Given the description of an element on the screen output the (x, y) to click on. 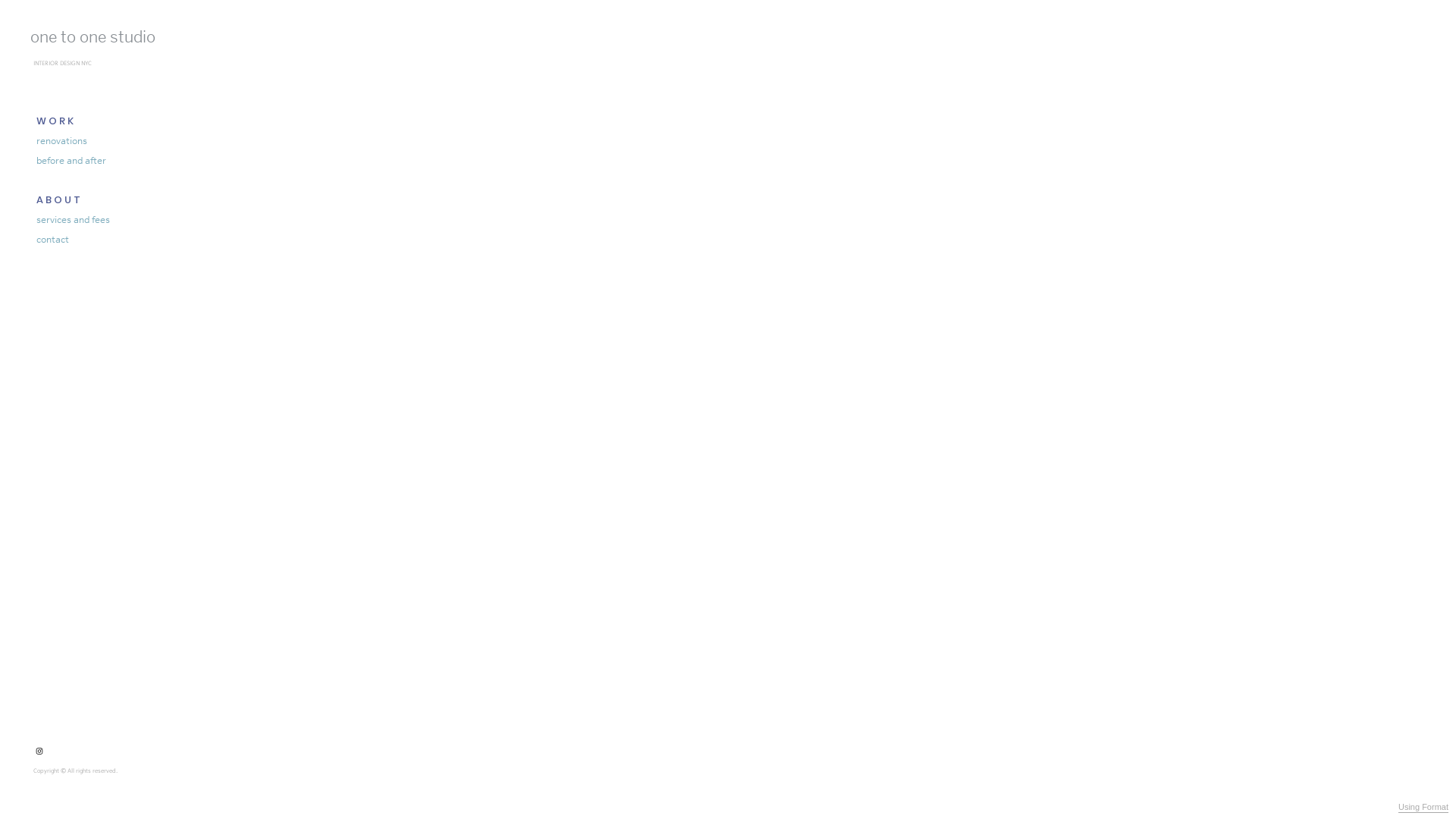
renovations Element type: text (61, 140)
A B O U T Element type: text (56, 199)
W O R K Element type: text (53, 120)
Using Format Element type: text (1423, 807)
before and after Element type: text (71, 160)
services and fees Element type: text (73, 219)
contact Element type: text (52, 239)
one to one studio Element type: text (95, 36)
